Given the description of an element on the screen output the (x, y) to click on. 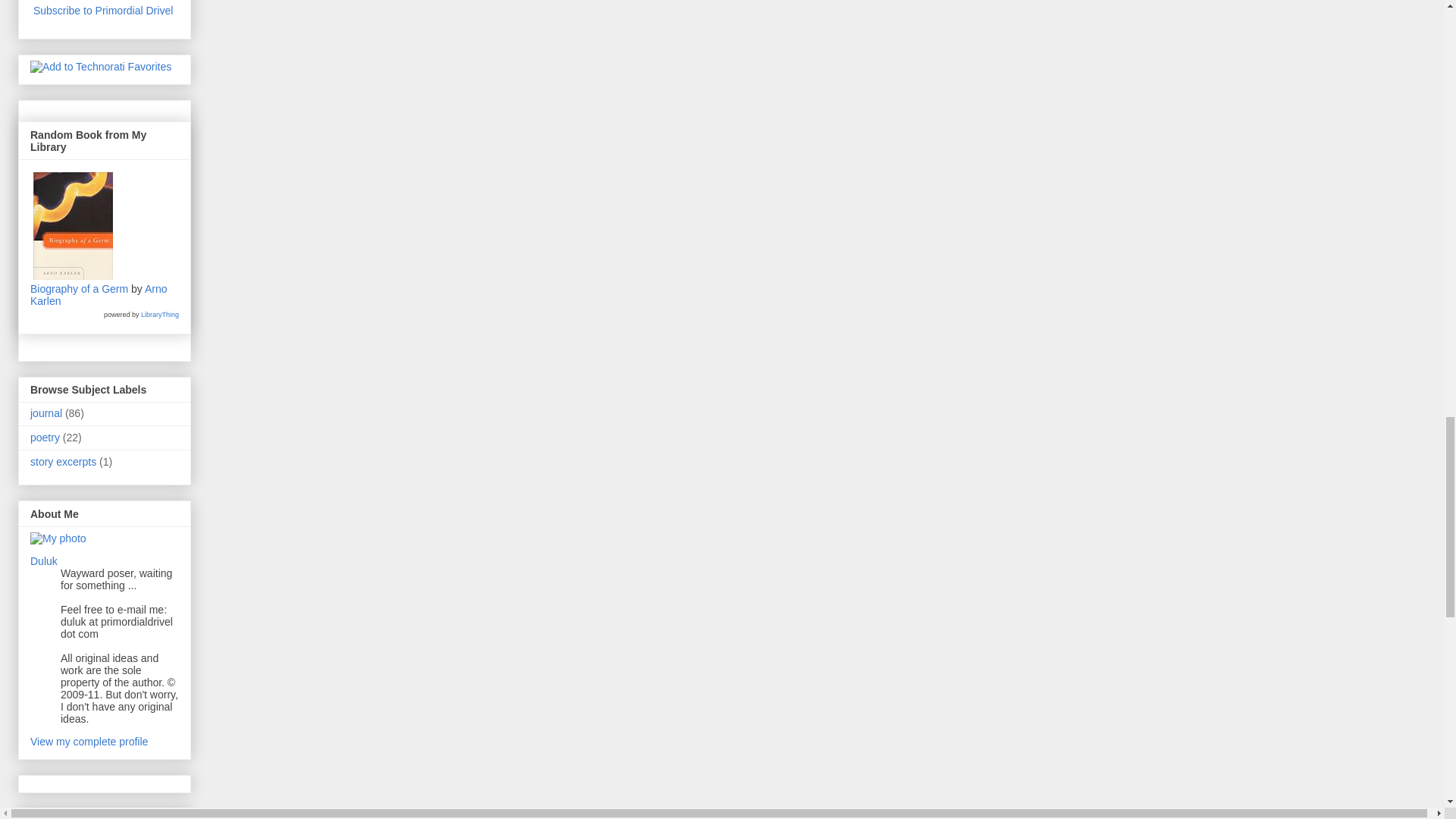
journal (46, 413)
LibraryThing (160, 314)
Subscribe to Primordial Drivel (103, 10)
Biography of a Germ (79, 288)
Arno Karlen (98, 294)
Duluk (44, 561)
View my complete profile (89, 741)
poetry (44, 437)
story excerpts (63, 461)
